Given the description of an element on the screen output the (x, y) to click on. 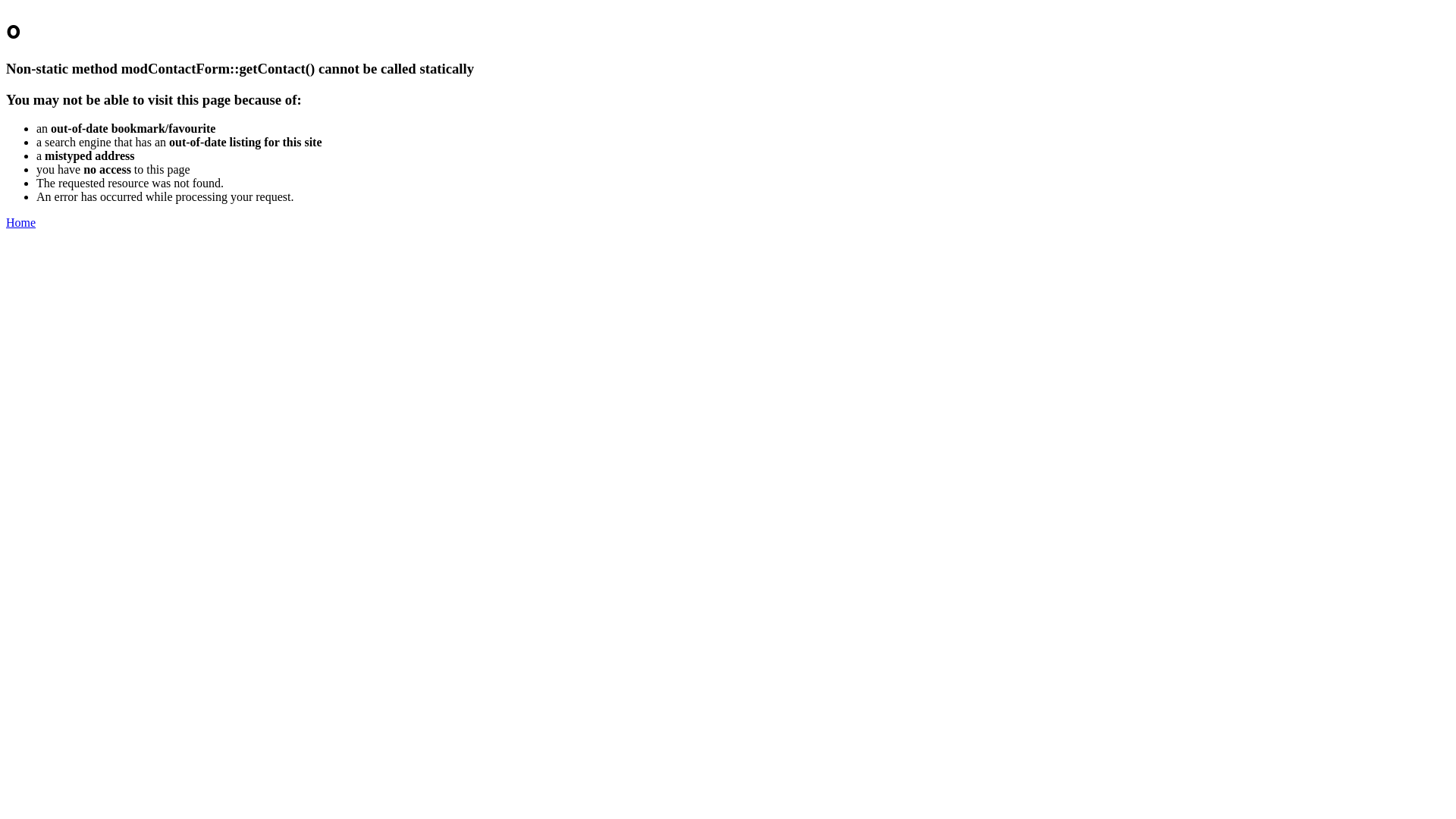
Home Element type: text (20, 222)
